Given the description of an element on the screen output the (x, y) to click on. 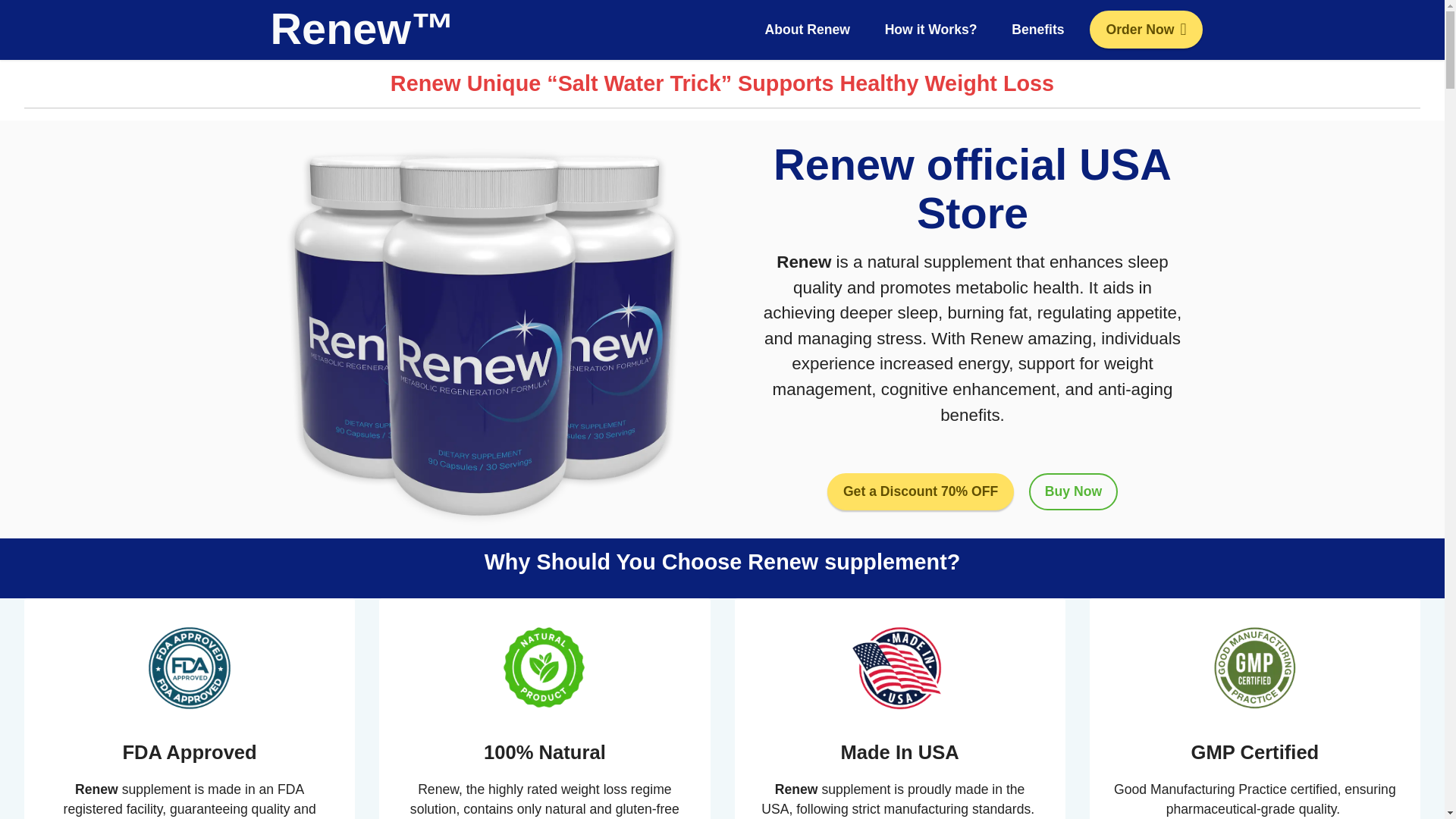
Renew (803, 261)
Renew (796, 789)
Benefits (1037, 29)
Renew (96, 789)
About Renew (806, 29)
How it Works? (929, 29)
Buy Now (1073, 492)
Order Now (1145, 29)
